Given the description of an element on the screen output the (x, y) to click on. 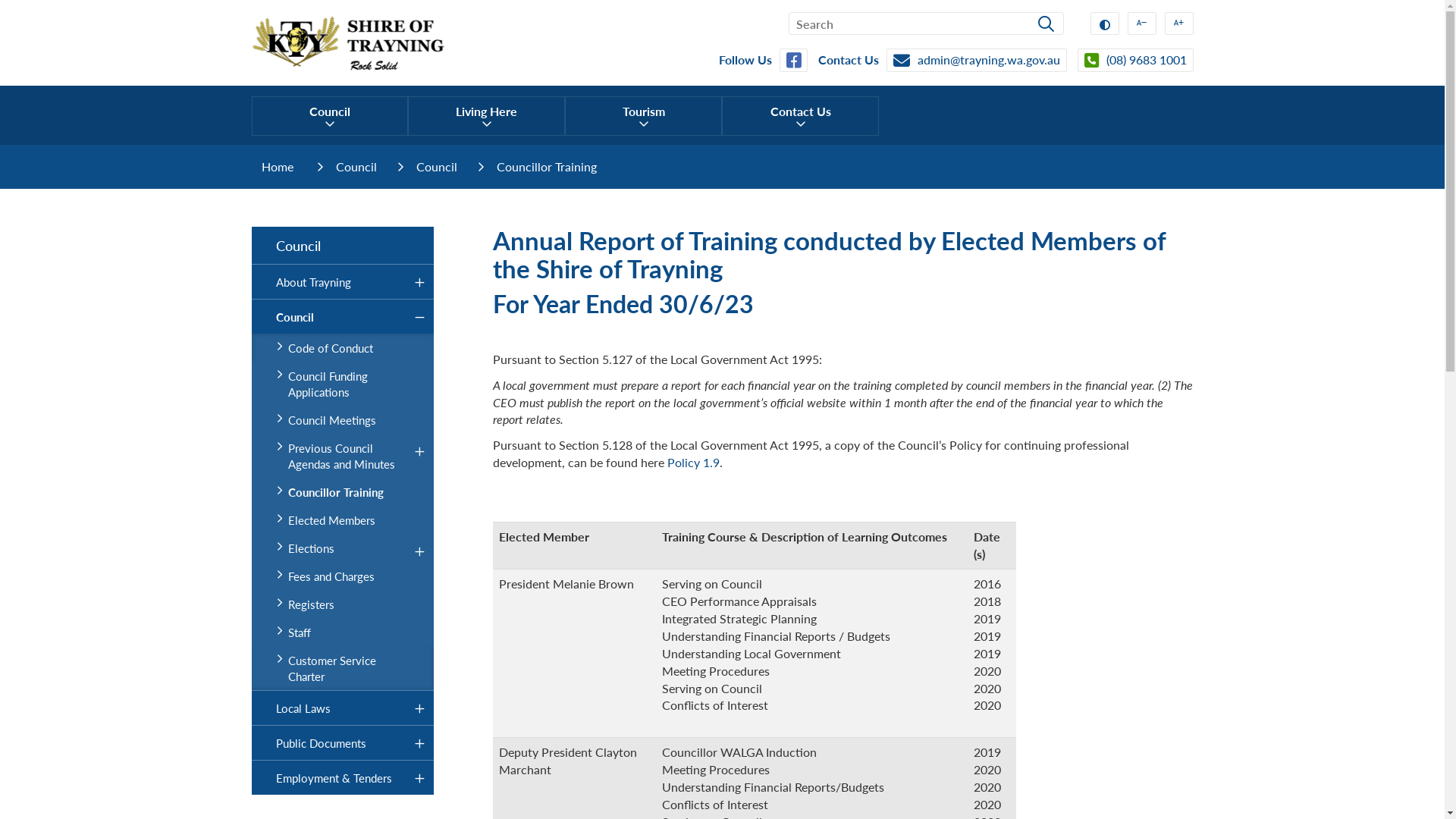
Council Element type: text (329, 115)
About Trayning Element type: text (342, 281)
Local Laws Element type: text (342, 707)
Council Element type: text (342, 244)
Registers Element type: text (342, 603)
Make Text Smaller Element type: text (1140, 23)
Council Element type: text (355, 166)
Policy 1.9 Element type: text (693, 461)
Council Funding Applications Element type: text (342, 383)
Staff Element type: text (342, 632)
admin@trayning.wa.gov.au Element type: text (975, 60)
Councillor Training Element type: text (546, 166)
Previous Council Agendas and Minutes Element type: text (342, 455)
Council Element type: text (436, 166)
Code of Conduct Element type: text (342, 347)
Council Meetings Element type: text (342, 419)
High Contrast Element type: text (1104, 23)
Elected Members Element type: text (342, 519)
Councillor Training Element type: text (342, 491)
Elections Element type: text (342, 547)
Fees and Charges Element type: text (342, 575)
View the Shire of Trayning website home page Element type: hover (348, 41)
Contact Us Element type: text (799, 115)
Follow link to view our Facebook page Element type: hover (793, 60)
Tourism Element type: text (642, 115)
Employment & Tenders Element type: text (342, 777)
Public Documents Element type: text (342, 742)
Home Element type: text (278, 166)
Living Here Element type: text (485, 115)
Customer Service Charter Element type: text (342, 668)
Council Element type: text (342, 316)
(08) 9683 1001 Element type: text (1134, 60)
Make Text Bigger Element type: text (1178, 23)
